Given the description of an element on the screen output the (x, y) to click on. 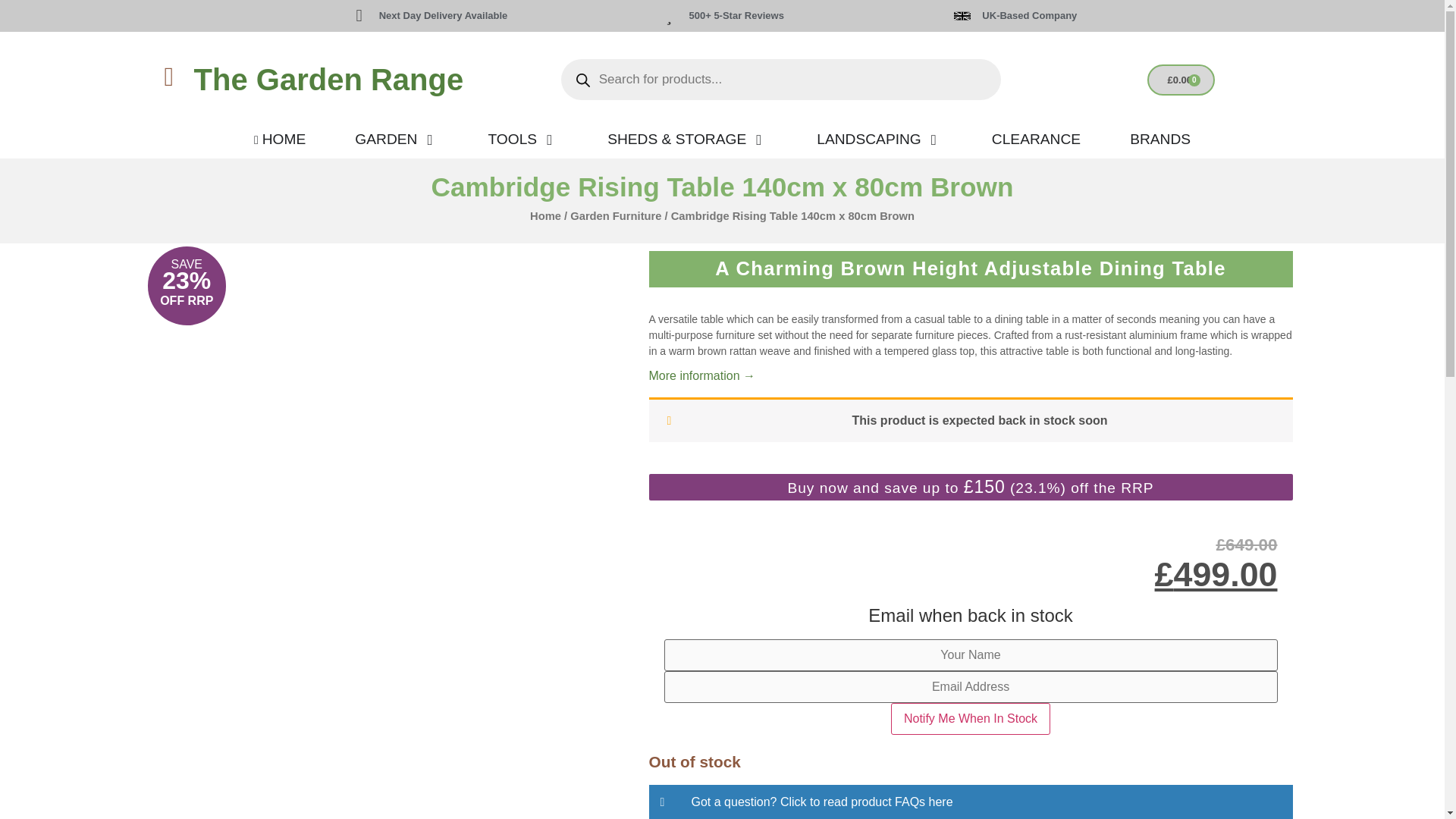
CLEARANCE (1035, 139)
Next Day Delivery Available (443, 15)
Notify Me When In Stock (970, 718)
HOME (279, 139)
UK-Based Company (1029, 15)
BRANDS (1160, 139)
The Garden Range (328, 79)
